Given the description of an element on the screen output the (x, y) to click on. 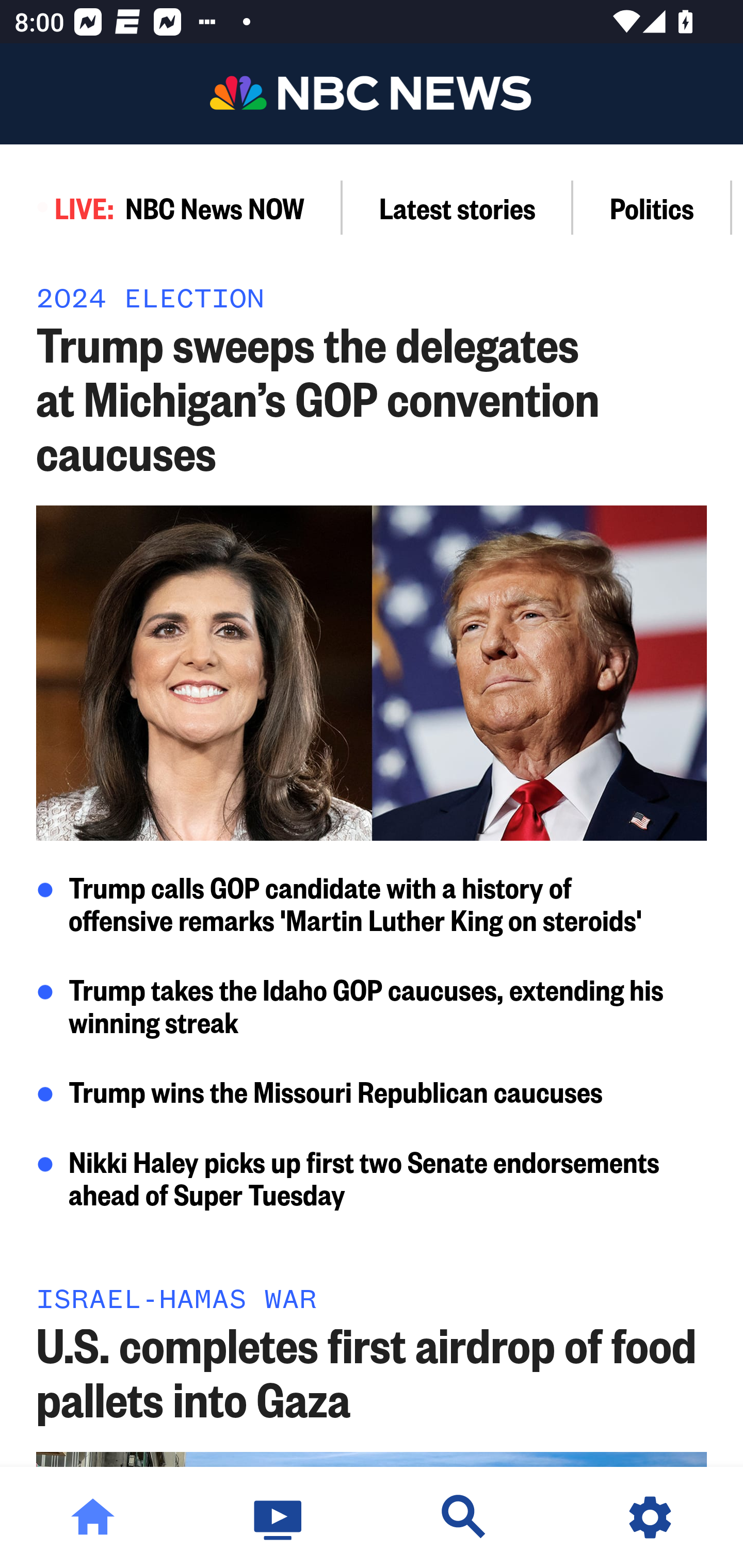
LIVE:  NBC News NOW (171, 207)
Latest stories Section,Latest stories (457, 207)
Politics Section,Politics (652, 207)
Watch (278, 1517)
Discover (464, 1517)
Settings (650, 1517)
